Given the description of an element on the screen output the (x, y) to click on. 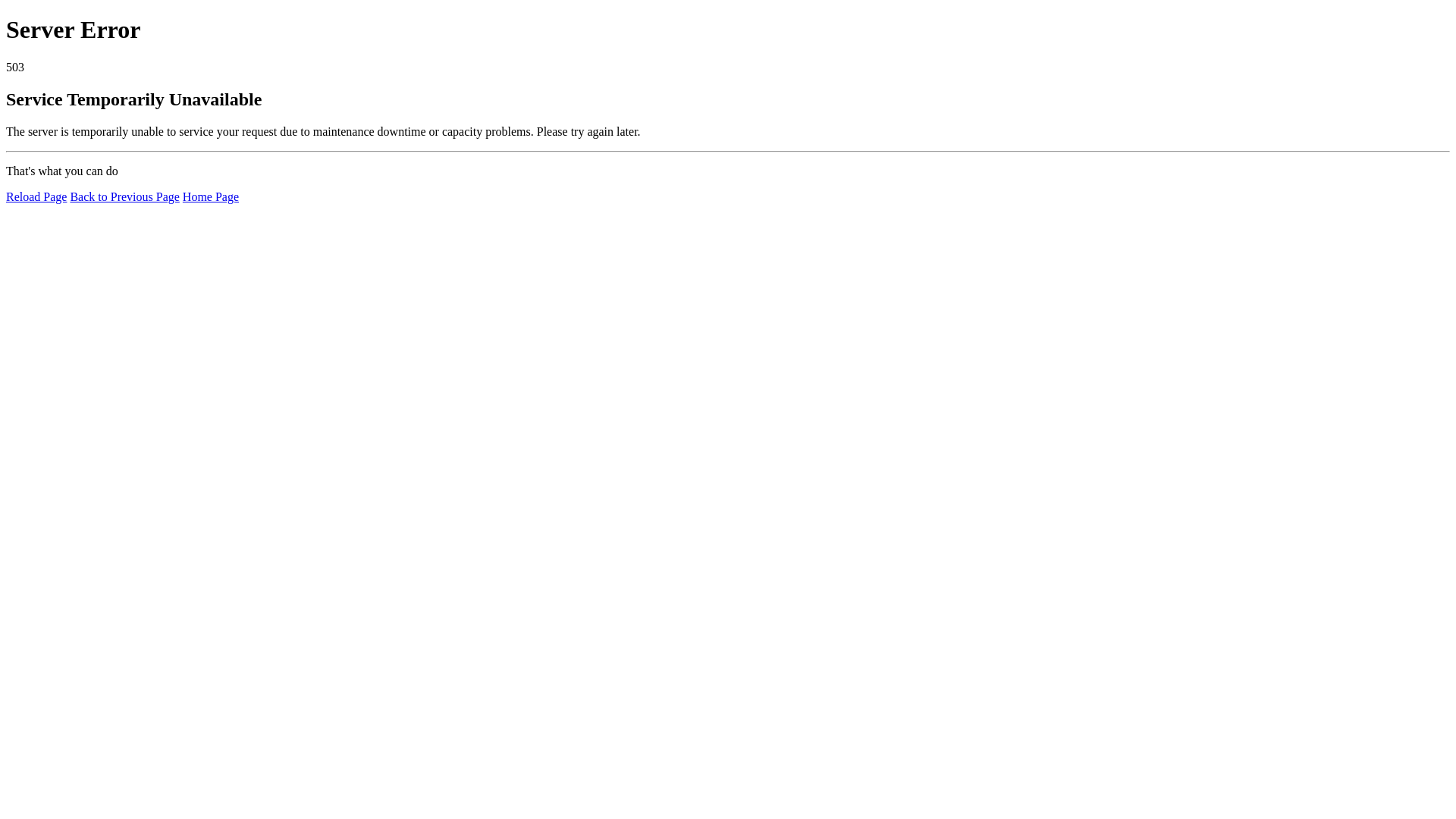
Reload Page Element type: text (36, 196)
Home Page Element type: text (210, 196)
Back to Previous Page Element type: text (123, 196)
